Given the description of an element on the screen output the (x, y) to click on. 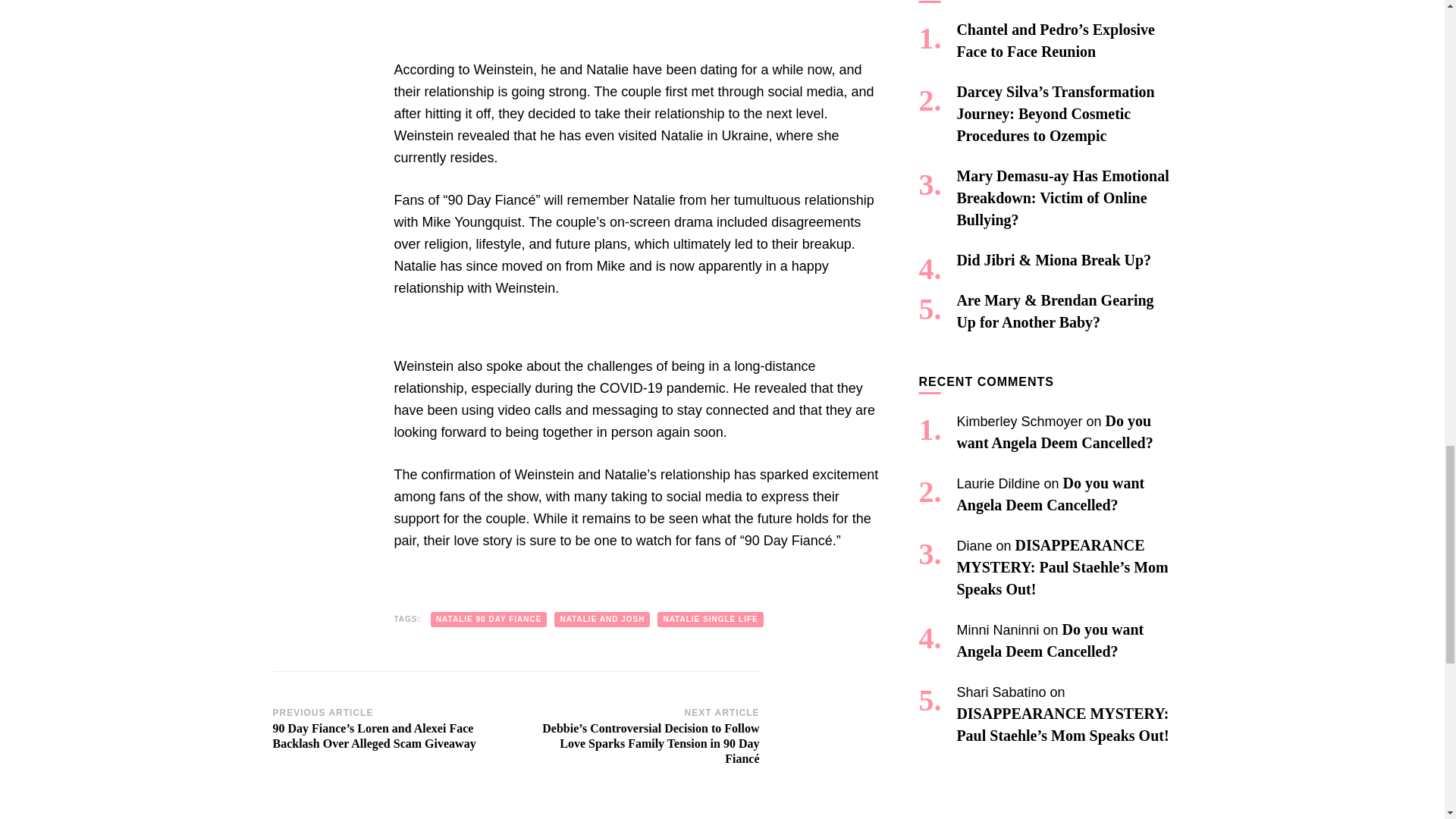
NATALIE AND JOSH (601, 619)
NATALIE SINGLE LIFE (710, 619)
NATALIE 90 DAY FIANCE (488, 619)
